Given the description of an element on the screen output the (x, y) to click on. 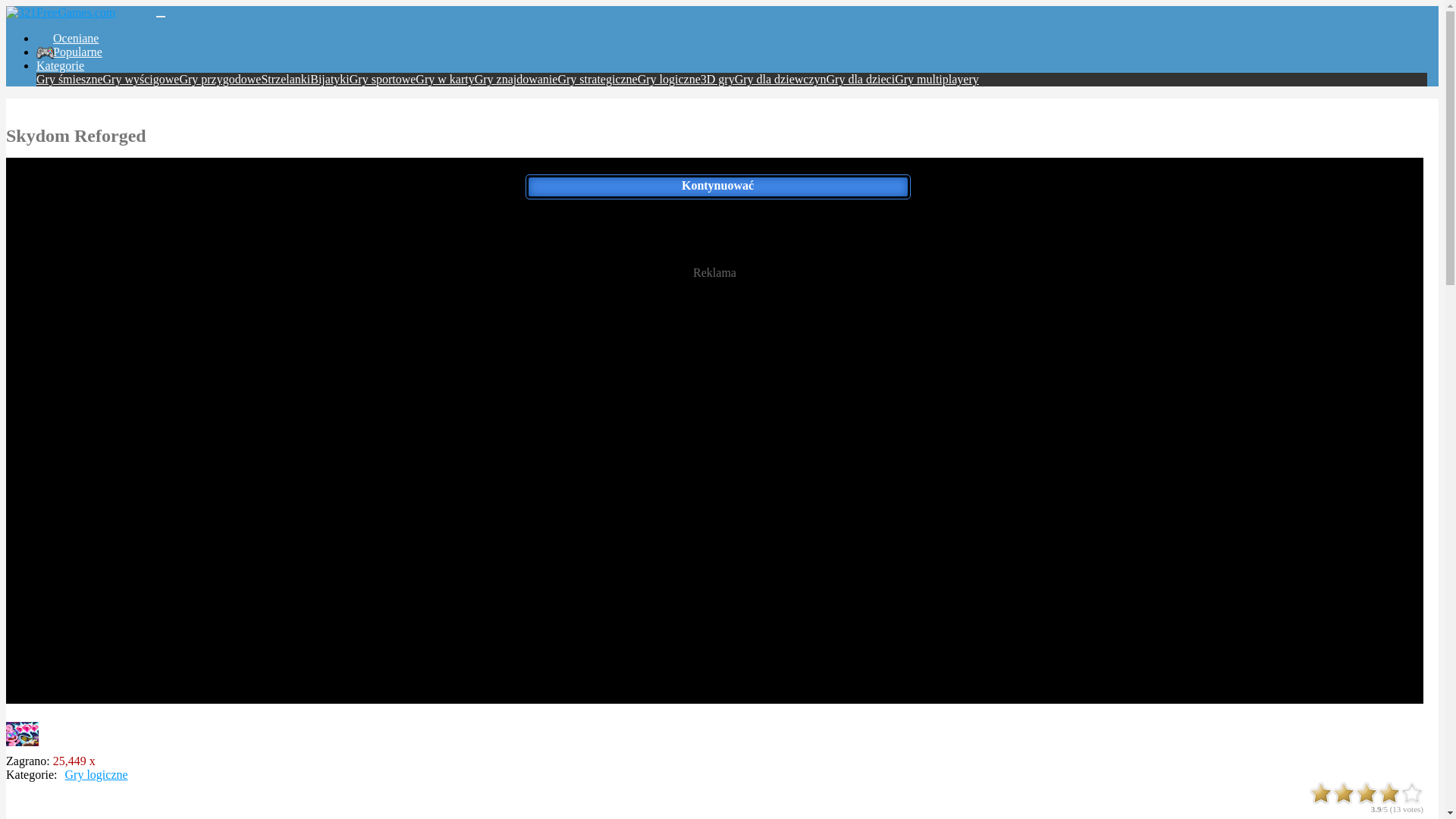
Advertisement Element type: hover (713, 400)
3D gry Element type: text (717, 78)
Oceniane Element type: text (75, 37)
Gry w karty Element type: text (444, 78)
Gry znajdowanie Element type: text (516, 78)
Gry dla dziewczyn Element type: text (780, 78)
Popularne Element type: text (77, 51)
Kategorie Element type: text (60, 65)
4 Element type: text (1388, 792)
2 Element type: text (1343, 792)
Bijatyki Element type: text (329, 78)
5 Element type: text (1411, 792)
Gry Element type: hover (60, 12)
Gry logiczne Element type: text (668, 78)
1 Element type: text (1320, 792)
Gry dla dzieci Element type: text (860, 78)
Gry multiplayery Element type: text (936, 78)
Gry strategiczne Element type: text (597, 78)
Gry sportowe Element type: text (382, 78)
Strzelanki Element type: text (285, 78)
Gry logiczne Element type: text (96, 774)
Gry przygodowe Element type: text (219, 78)
3 Element type: text (1366, 792)
